Given the description of an element on the screen output the (x, y) to click on. 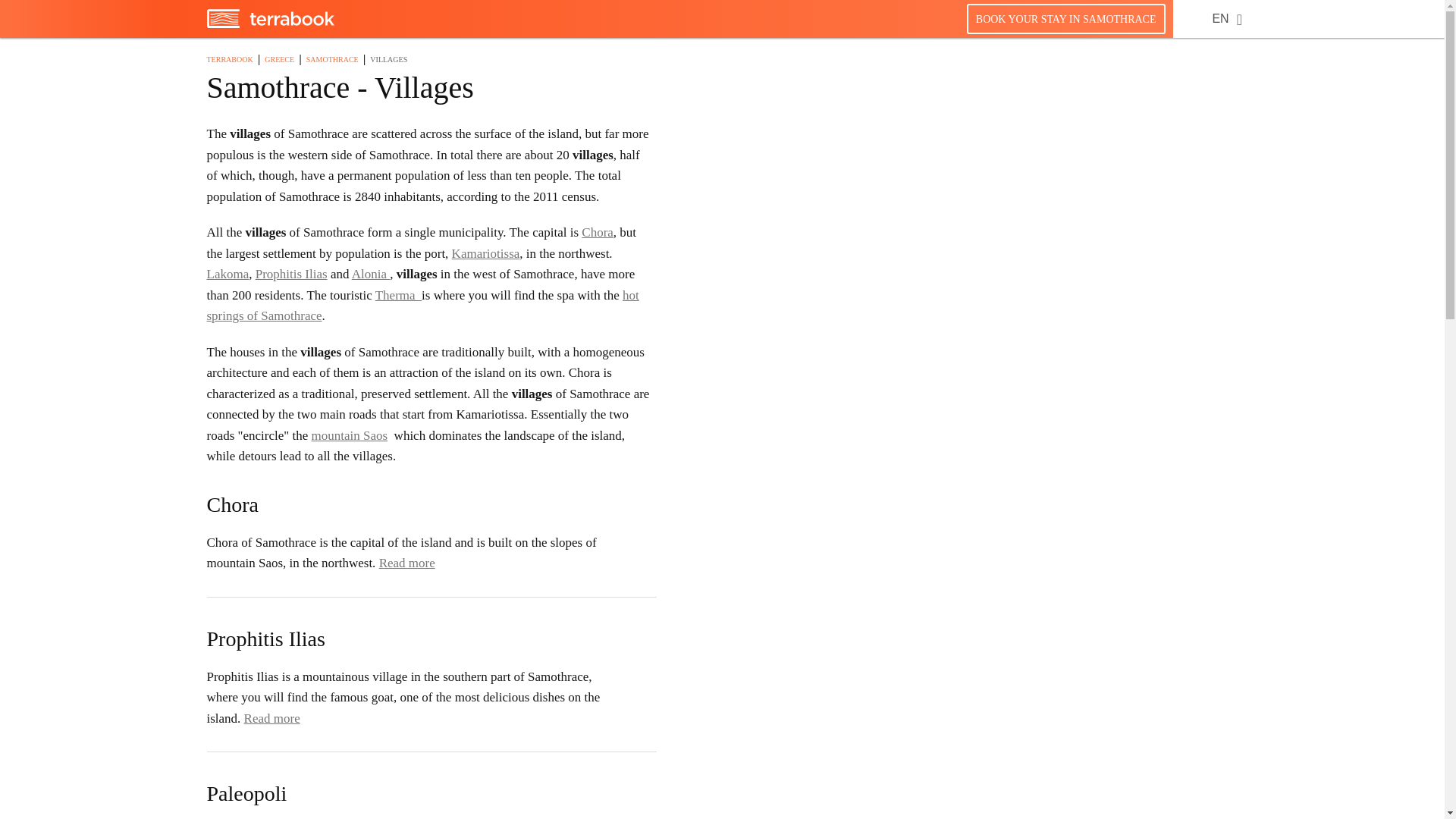
Therma   (398, 295)
mountain Saos (349, 435)
Alonia  (371, 273)
GREECE (279, 59)
EN (1220, 18)
Read more (271, 718)
Kamariotissa (485, 253)
Learn more about Kamariotissa (485, 253)
Terrabook (269, 24)
Chora (596, 232)
Learn more about Alonia (371, 273)
Book your stay in Samothrace (1065, 18)
BOOK YOUR STAY IN SAMOTHRACE (1065, 18)
Learn more about the hot springs of Samothrace (422, 305)
Learn more about Lakoma (227, 273)
